Given the description of an element on the screen output the (x, y) to click on. 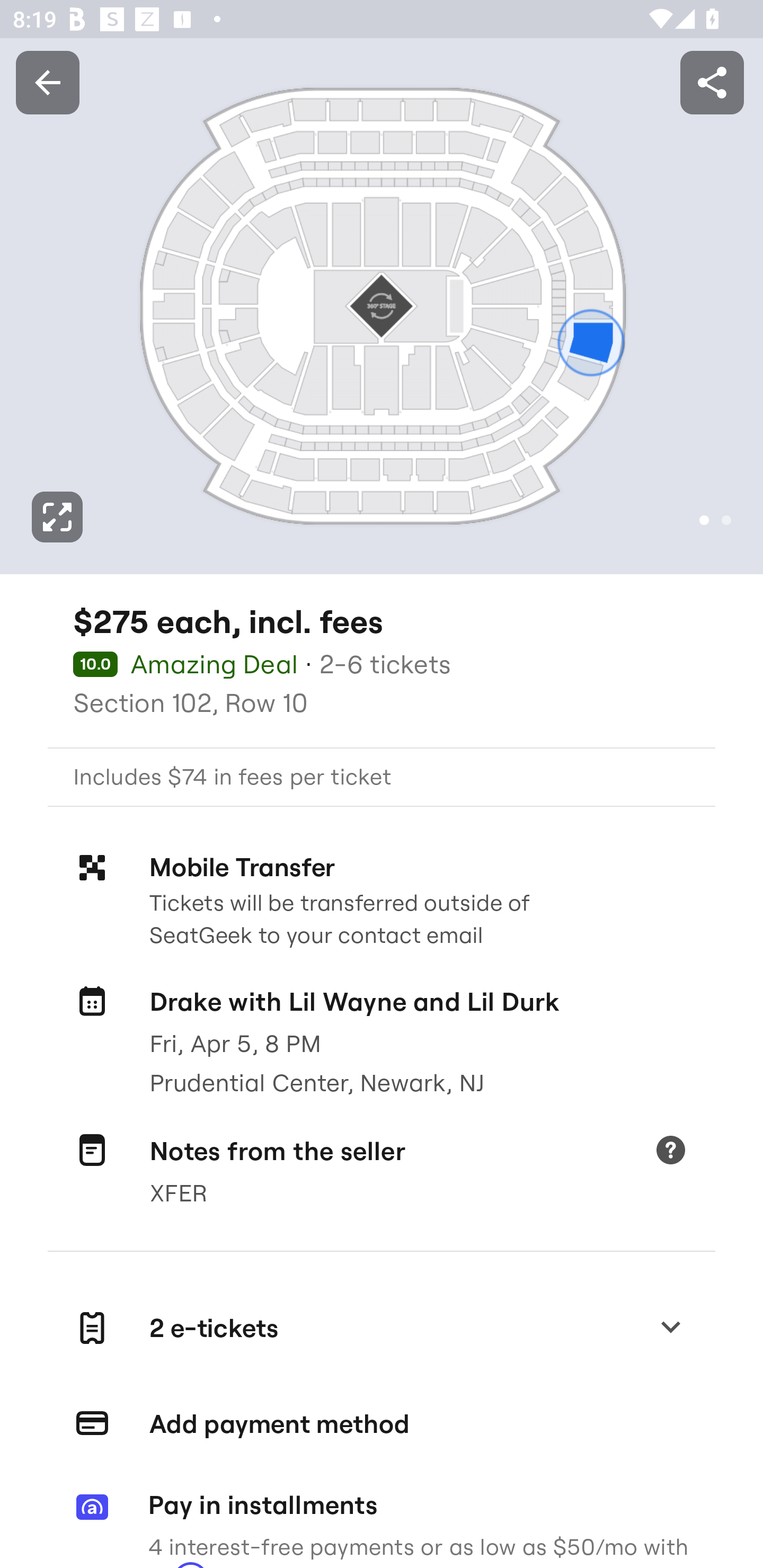
Back (47, 81)
Share (711, 81)
Expand image to fullscreen (57, 517)
Learn more (670, 1151)
2 e-tickets Expand to show options (381, 1328)
Add payment method (381, 1424)
